Given the description of an element on the screen output the (x, y) to click on. 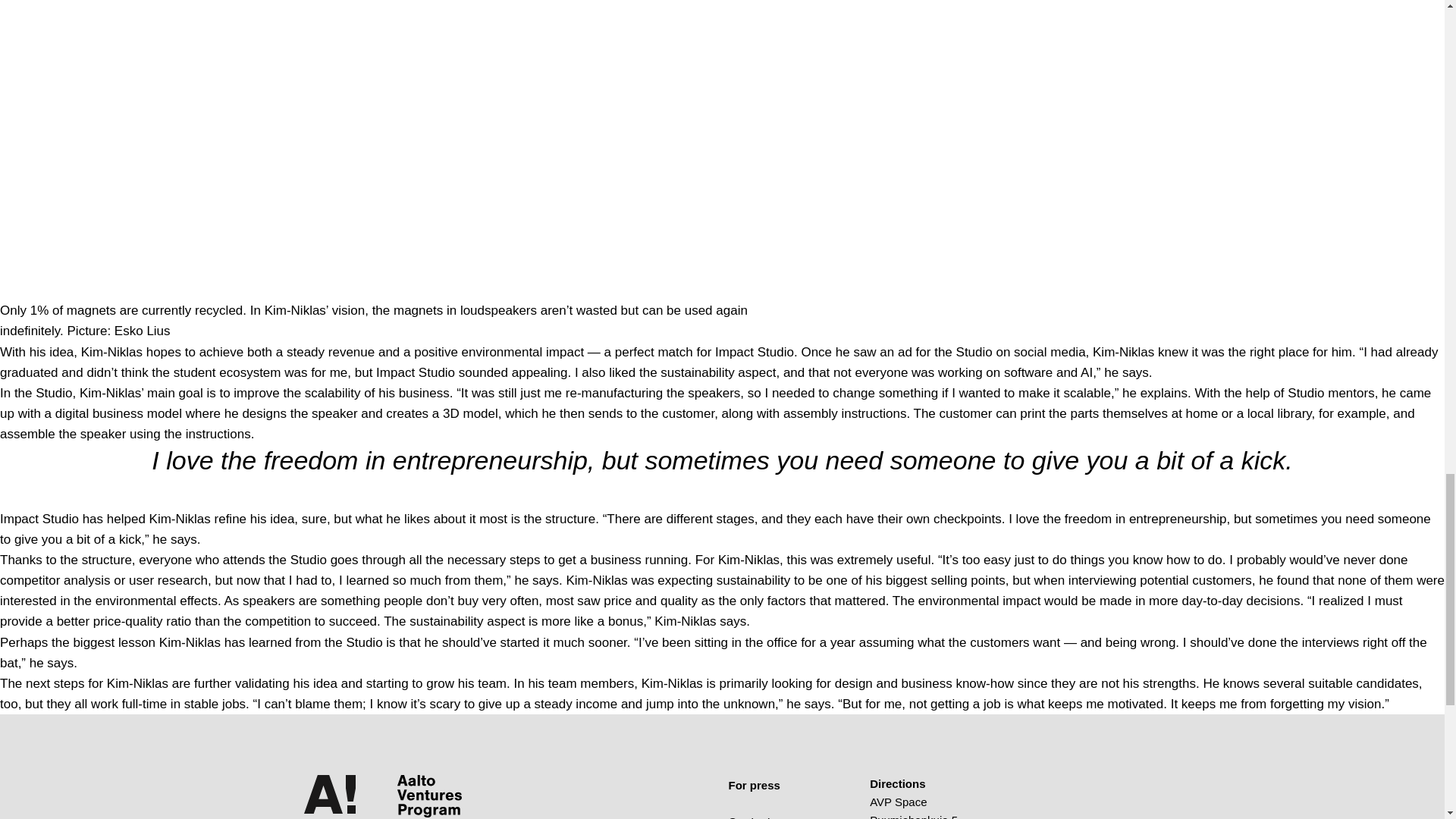
footer uni logo link (335, 796)
footer logo link (429, 796)
